Given the description of an element on the screen output the (x, y) to click on. 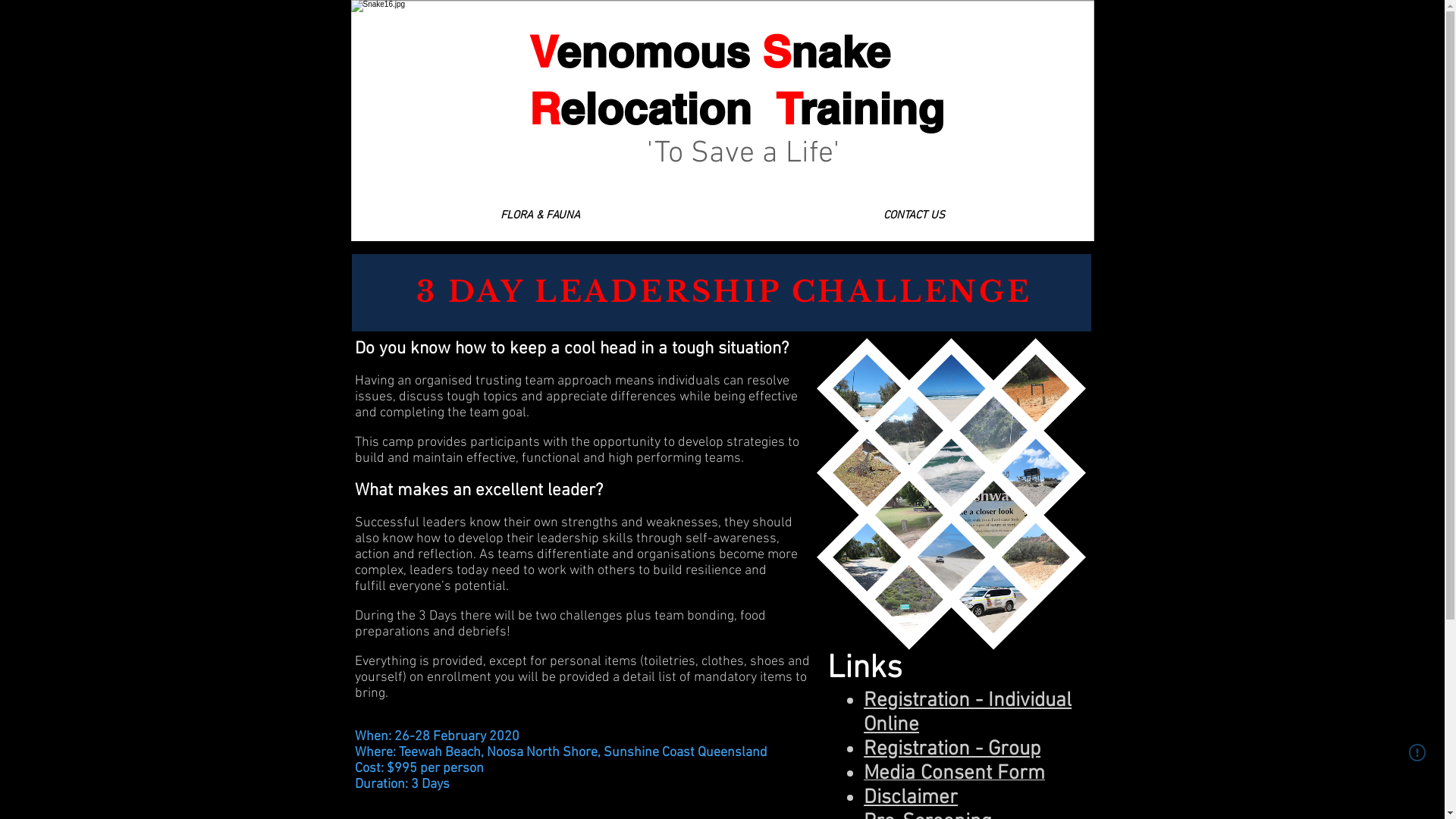
Site Search Element type: hover (1012, 17)
FLORA & FAUNA Element type: text (539, 215)
Disclaimer Element type: text (910, 797)
CONTACT US Element type: text (913, 215)
Registration - Individual Online Element type: text (967, 712)
Registration - Group Element type: text (951, 749)
Media Consent Form Element type: text (953, 775)
